Given the description of an element on the screen output the (x, y) to click on. 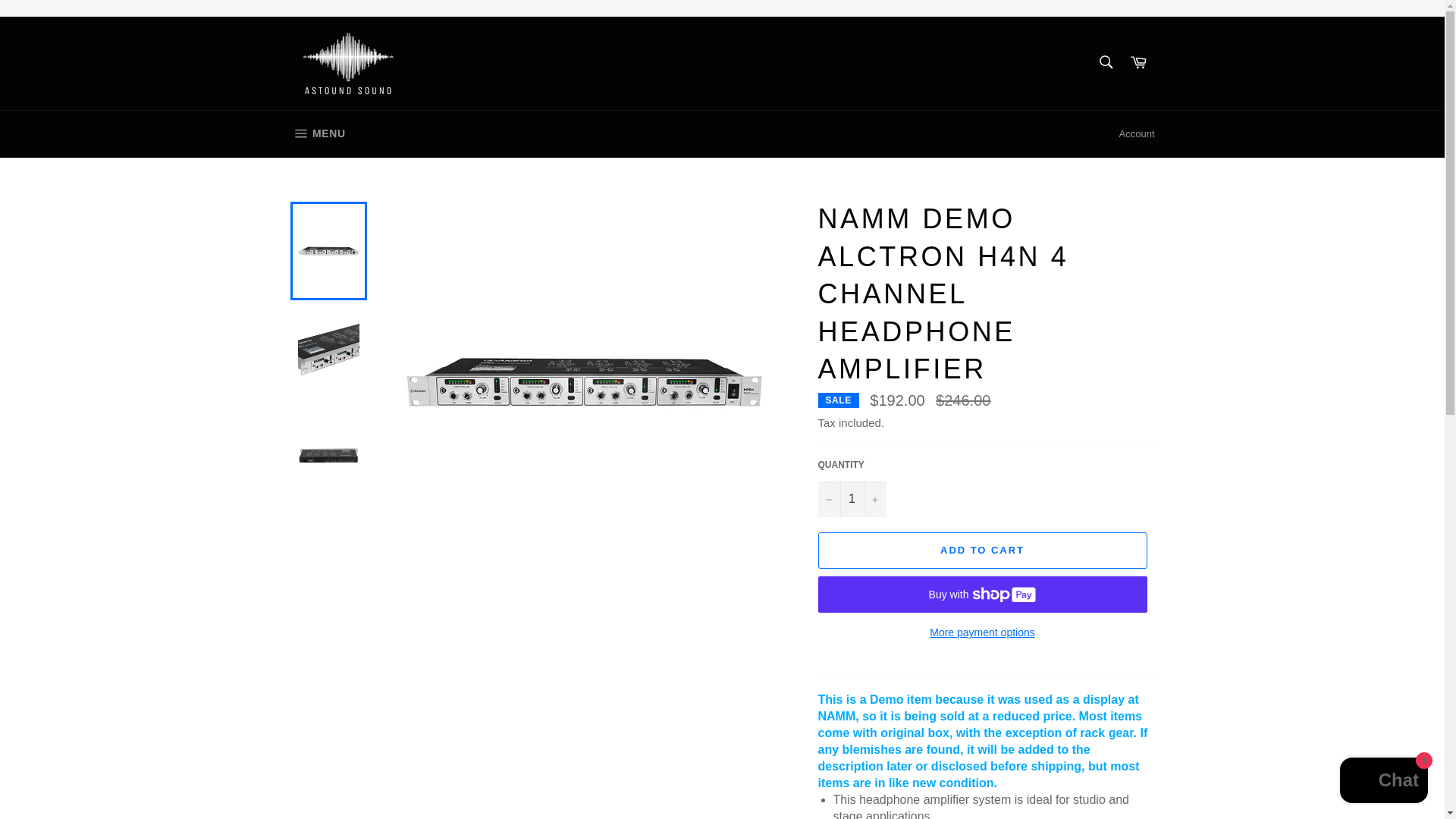
Shopify online store chat (1383, 781)
More payment options (981, 632)
Cart (1138, 62)
ADD TO CART (981, 550)
Account (1136, 134)
Search (317, 134)
1 (1104, 61)
